Given the description of an element on the screen output the (x, y) to click on. 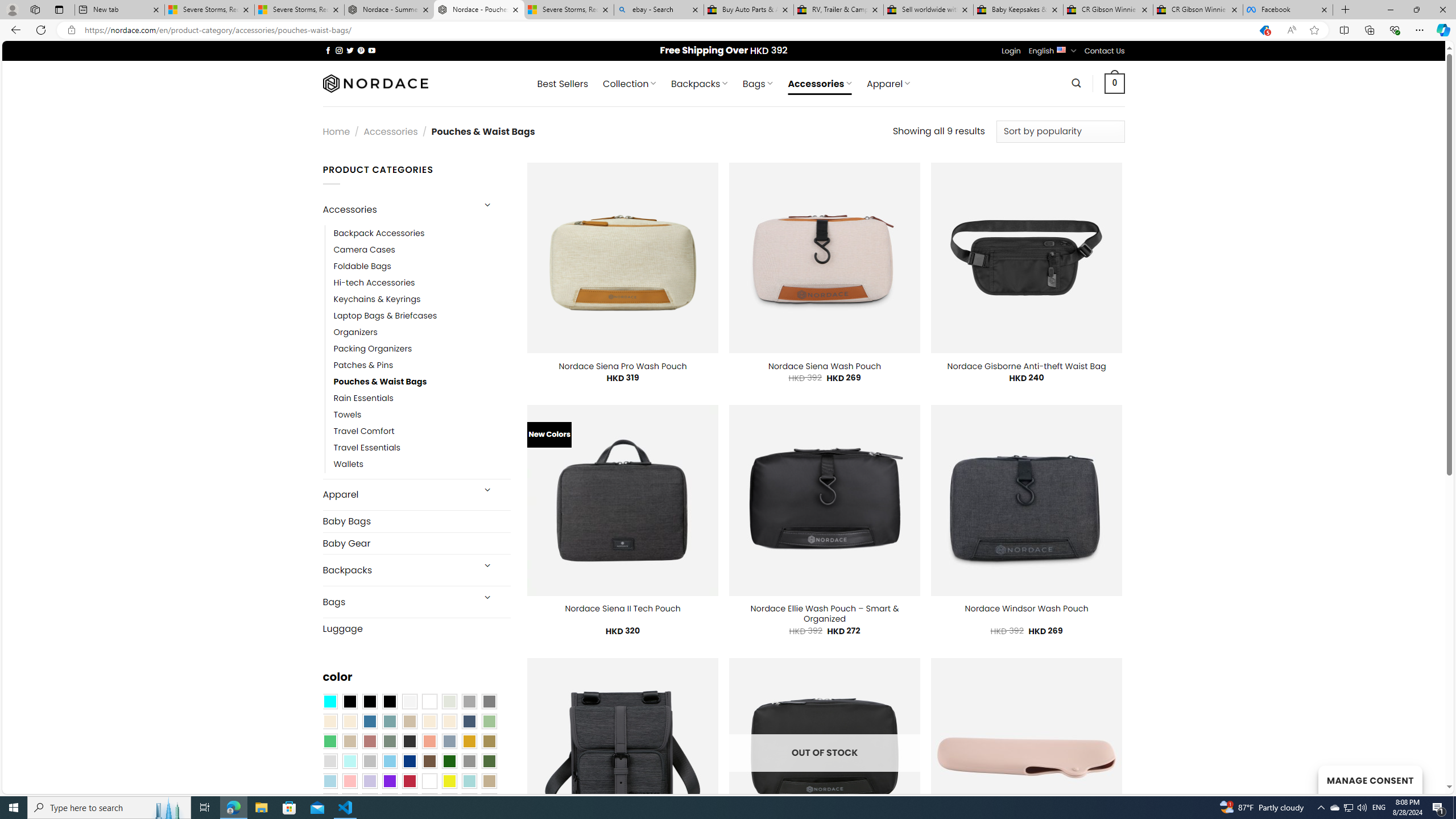
Sell worldwide with eBay (928, 9)
Sage (389, 741)
RV, Trailer & Camper Steps & Ladders for sale | eBay (838, 9)
Blue (369, 721)
Gold (468, 741)
Facebook (1287, 9)
Keychains & Keyrings (376, 298)
